Given the description of an element on the screen output the (x, y) to click on. 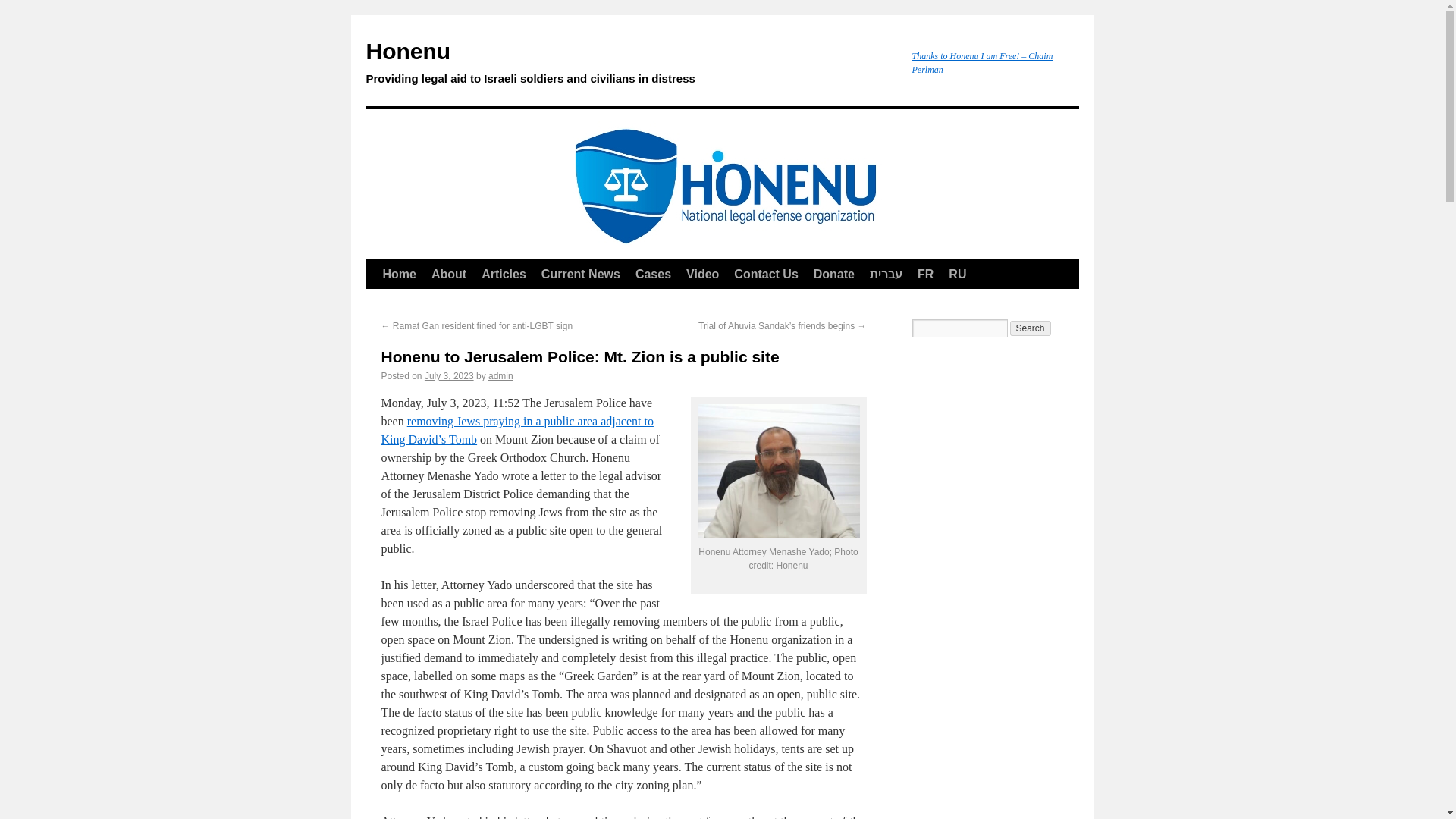
11:52 am (449, 376)
View all posts by admin (500, 376)
About (448, 274)
Home (398, 274)
Cases (652, 274)
Current News (580, 274)
Articles (504, 274)
Search (1030, 328)
